Given the description of an element on the screen output the (x, y) to click on. 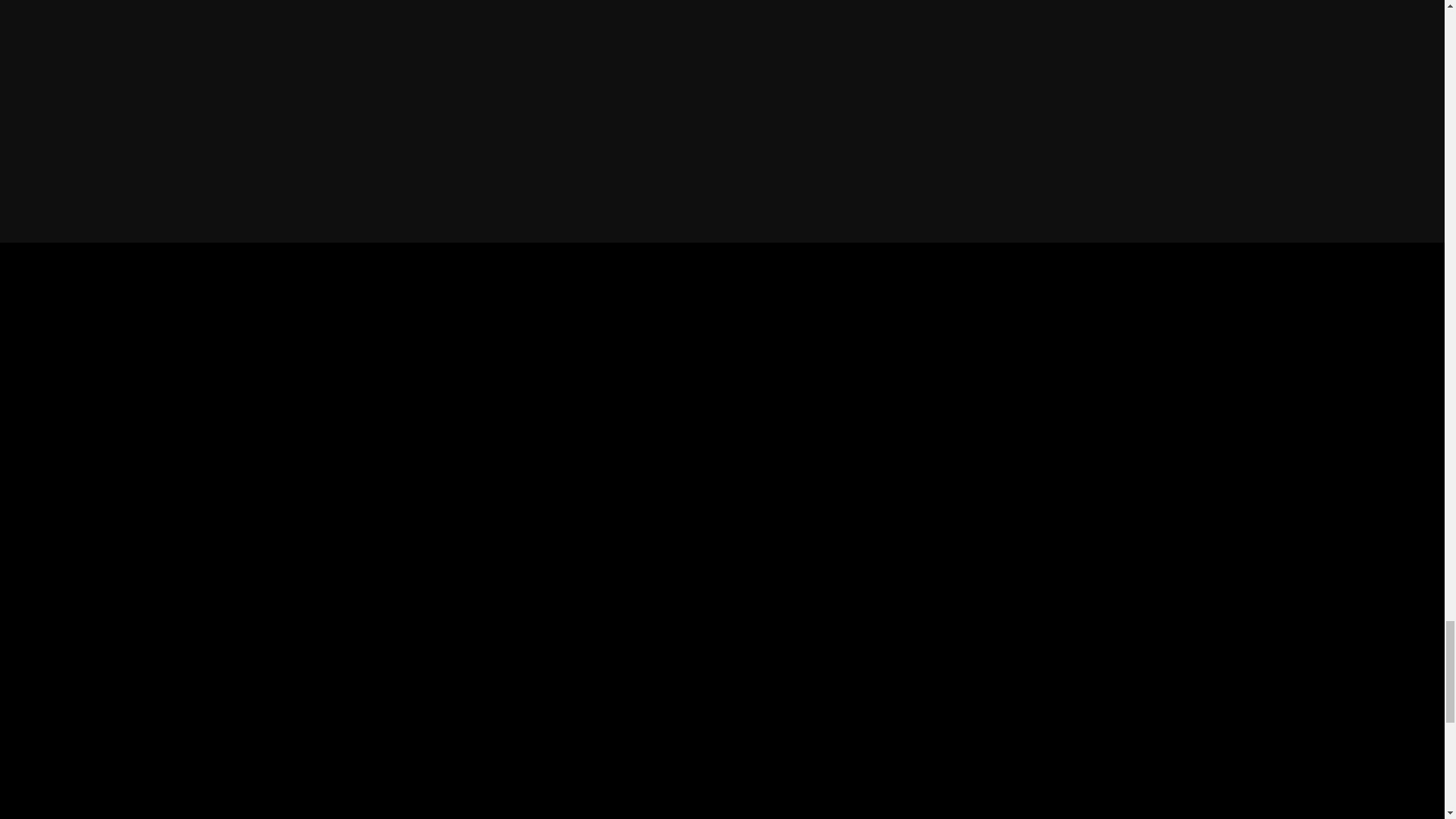
Sierra Madre, CA, US (722, 787)
